Given the description of an element on the screen output the (x, y) to click on. 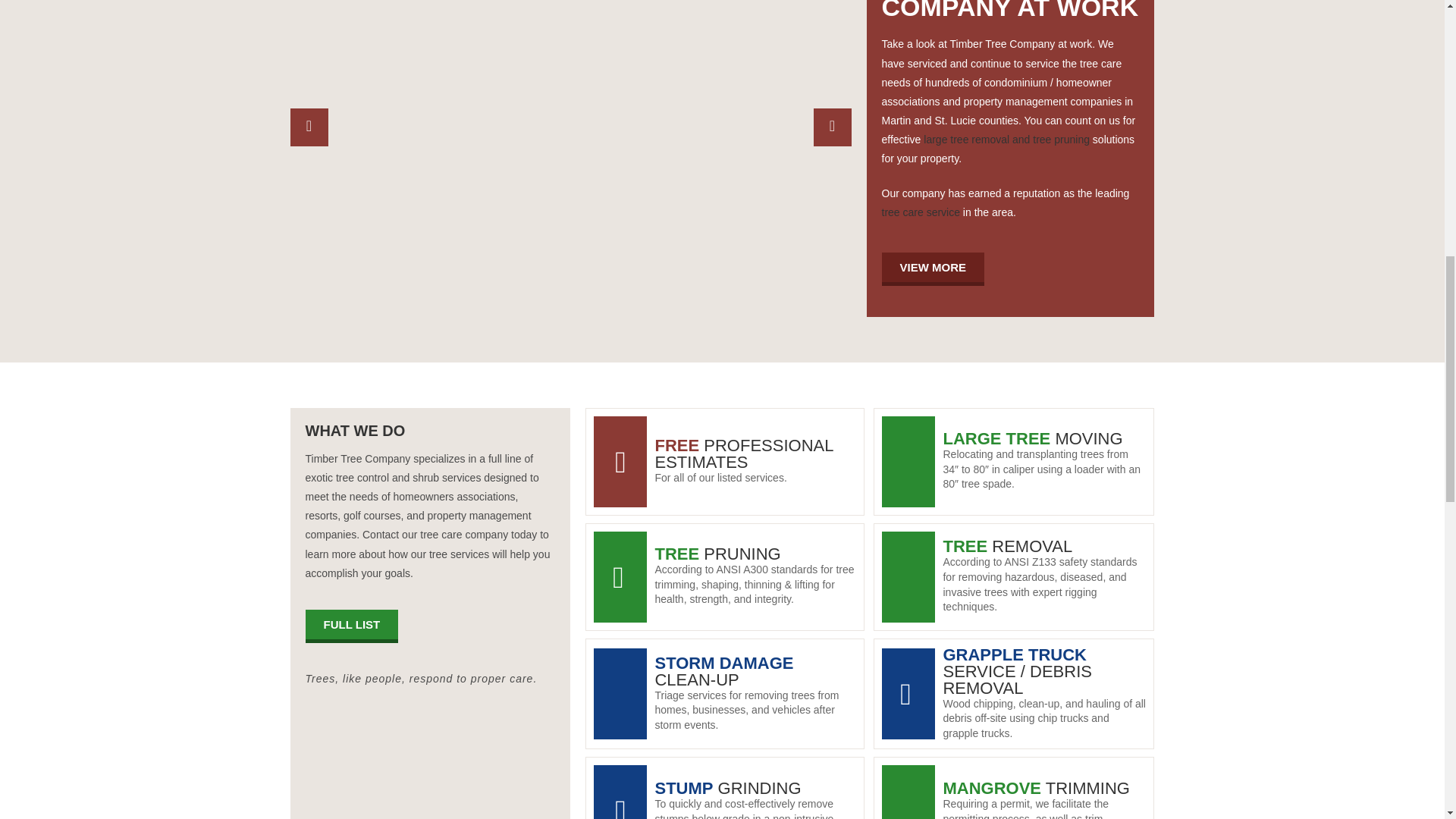
FULL LIST (350, 625)
large tree removal and tree pruning (1006, 139)
tree care service (919, 212)
VIEW MORE (932, 268)
